Given the description of an element on the screen output the (x, y) to click on. 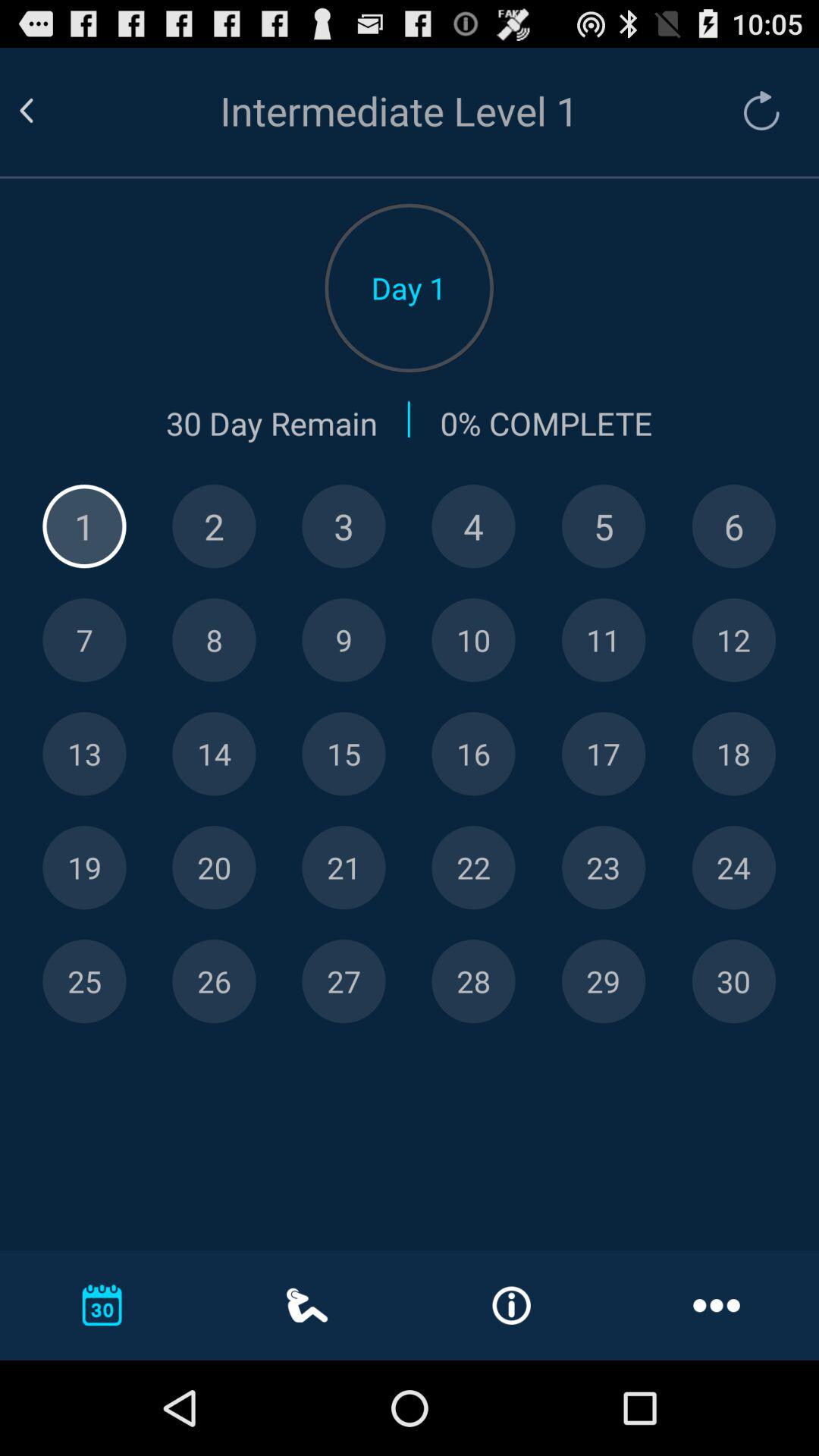
select number 1 (84, 526)
